Given the description of an element on the screen output the (x, y) to click on. 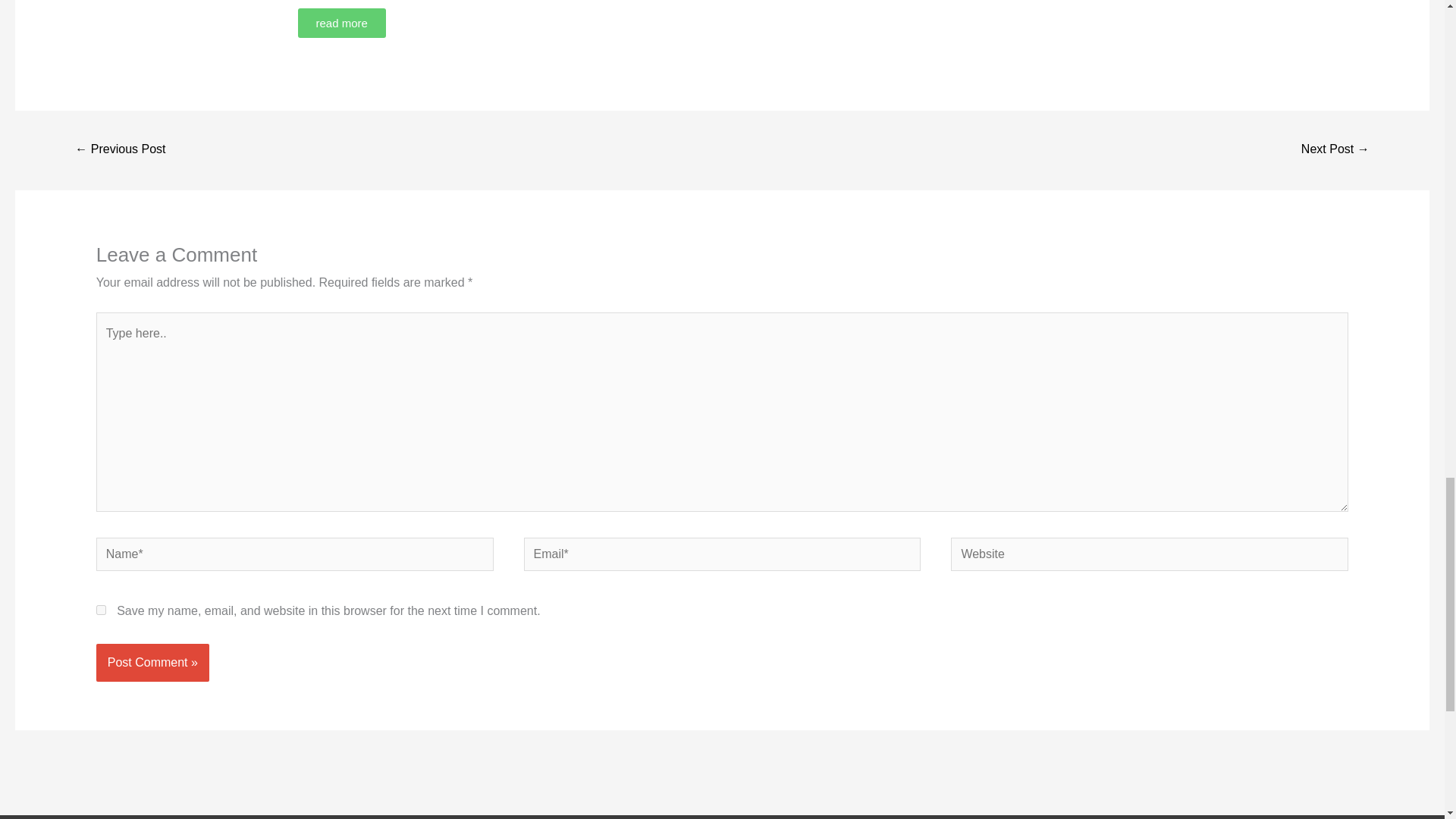
yes (101, 610)
Office Cleaning Services Montreal (119, 150)
Window Cleaning Services Montreal (1334, 150)
